Given the description of an element on the screen output the (x, y) to click on. 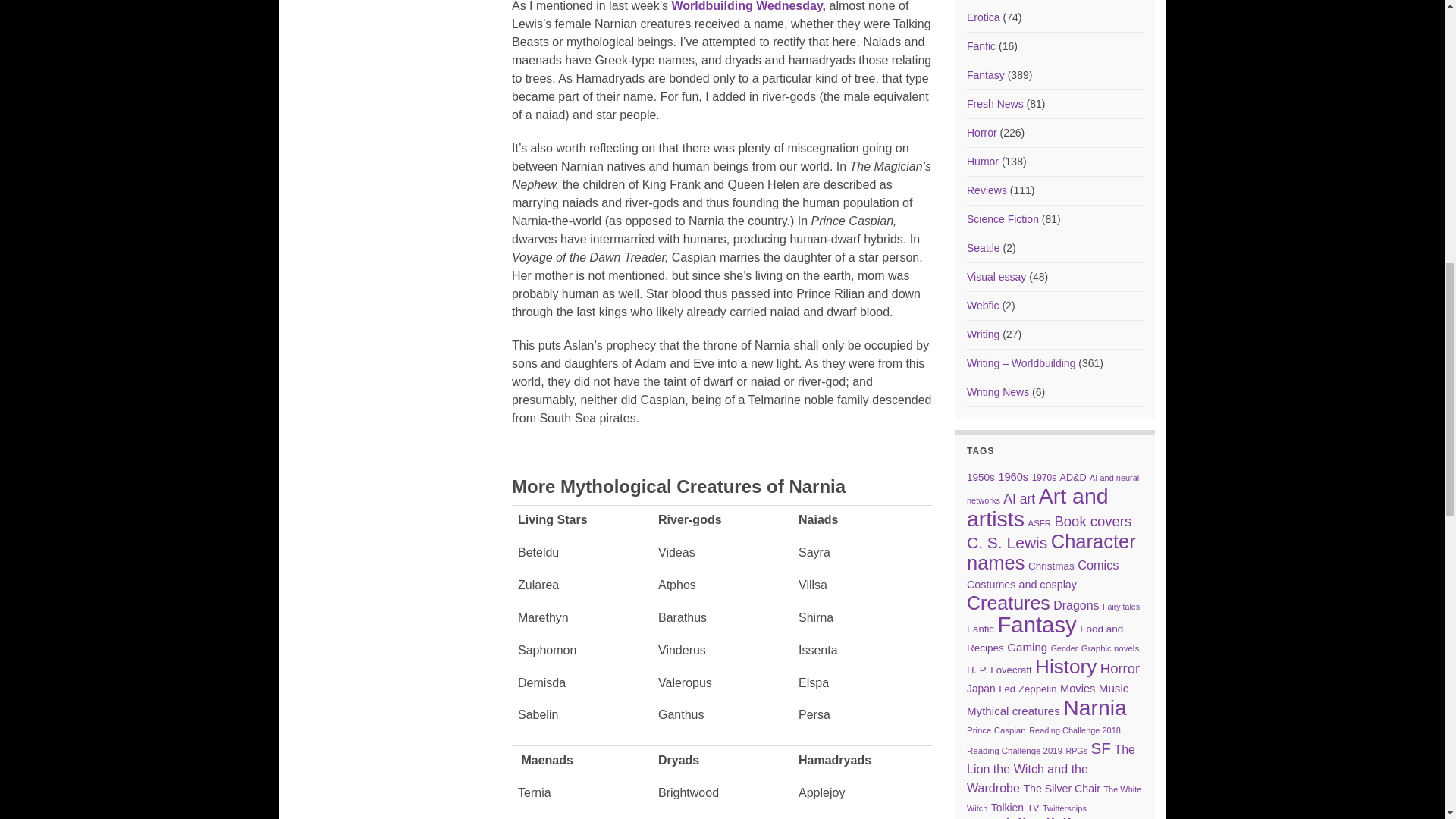
Worldbuilding Wednesday, (748, 6)
Erotica (983, 17)
Fresh News (994, 103)
Fanfic (980, 46)
Fantasy (985, 74)
